Given the description of an element on the screen output the (x, y) to click on. 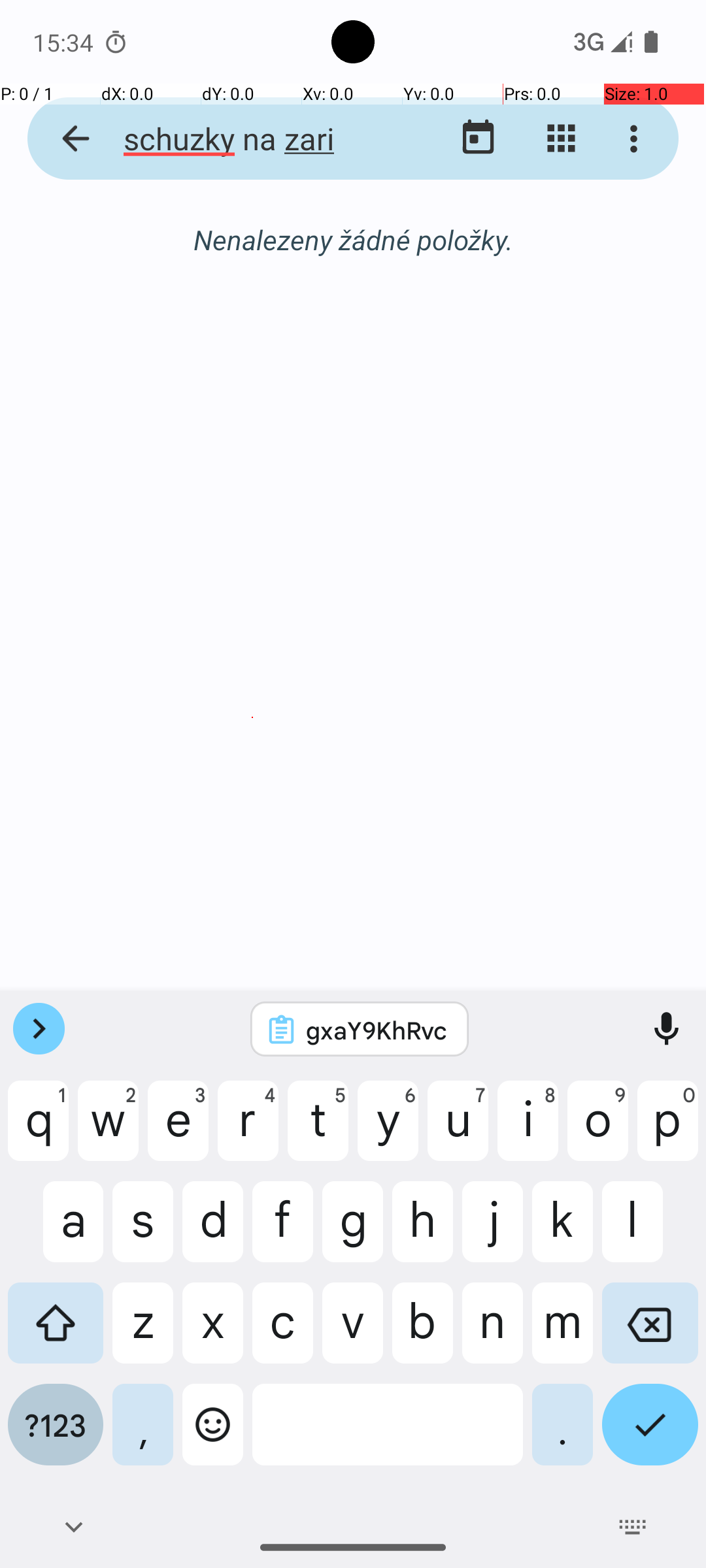
schuzky na zari Element type: android.widget.EditText (252, 138)
Nenalezeny žádné položky. Element type: android.widget.TextView (353, 239)
září Element type: android.widget.TextView (352, 239)
gxaY9KhRvc Element type: android.widget.TextView (376, 1029)
